Given the description of an element on the screen output the (x, y) to click on. 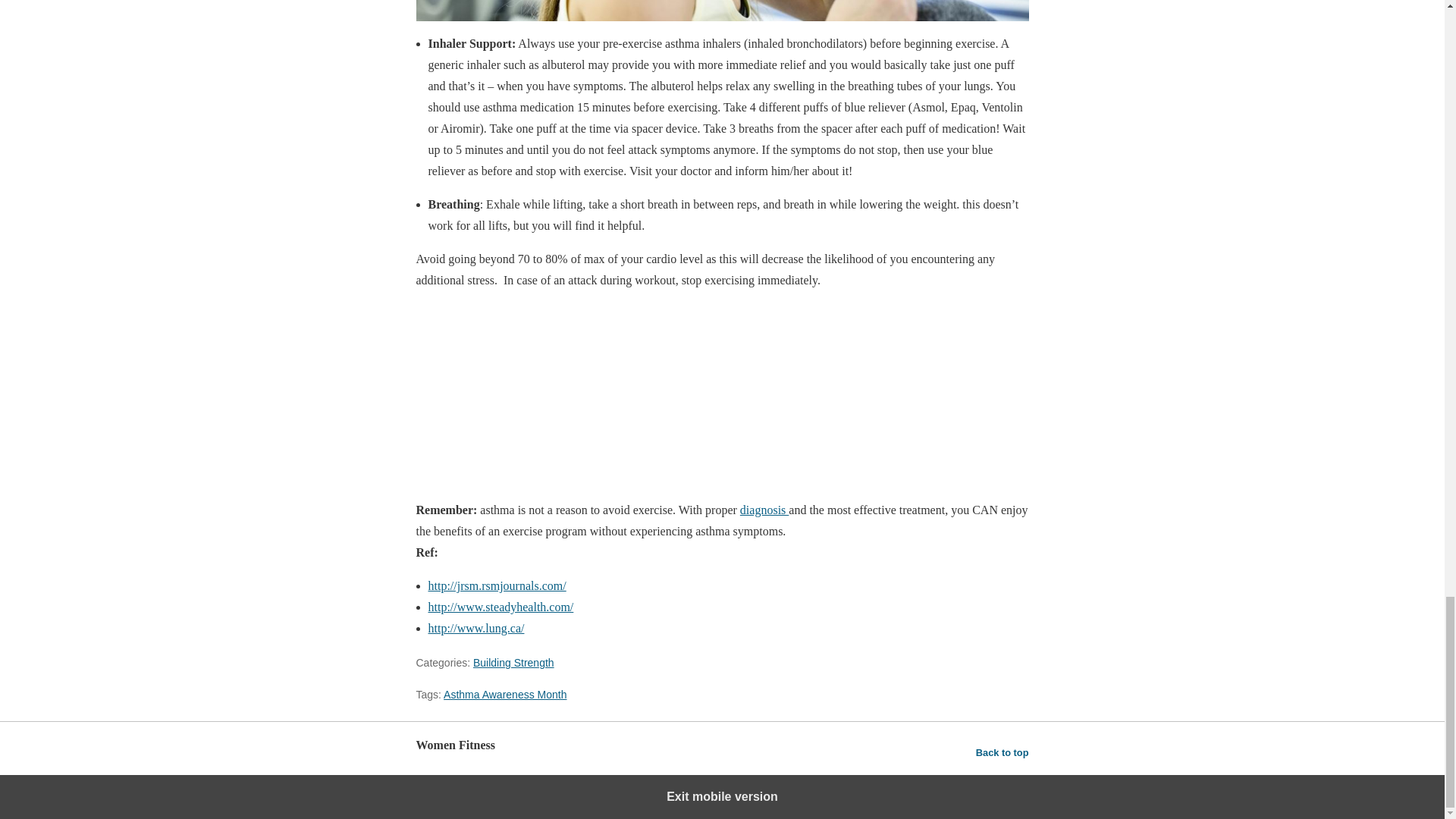
Building Strength (513, 662)
diagnosis  (764, 509)
Back to top (1002, 752)
Asthma Awareness Month (505, 694)
